Given the description of an element on the screen output the (x, y) to click on. 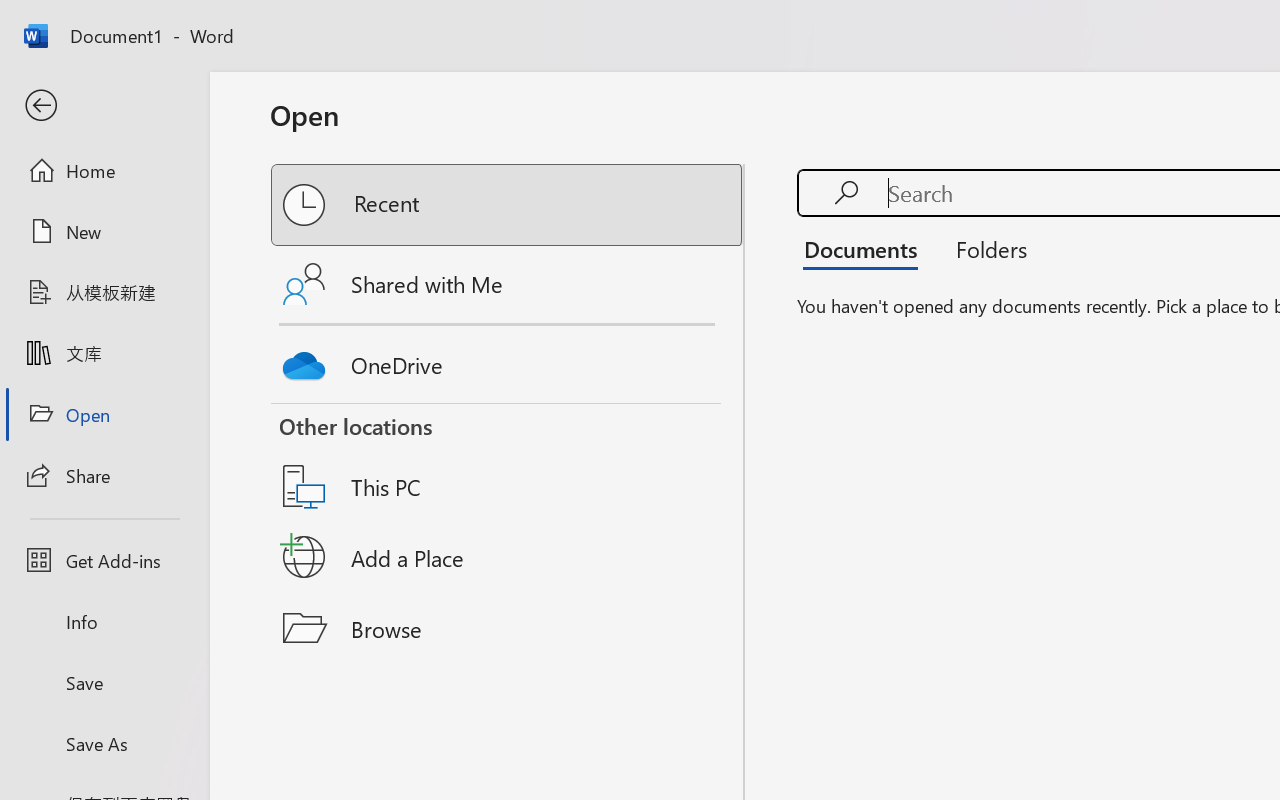
Back (104, 106)
Get Add-ins (104, 560)
Browse (507, 627)
